Given the description of an element on the screen output the (x, y) to click on. 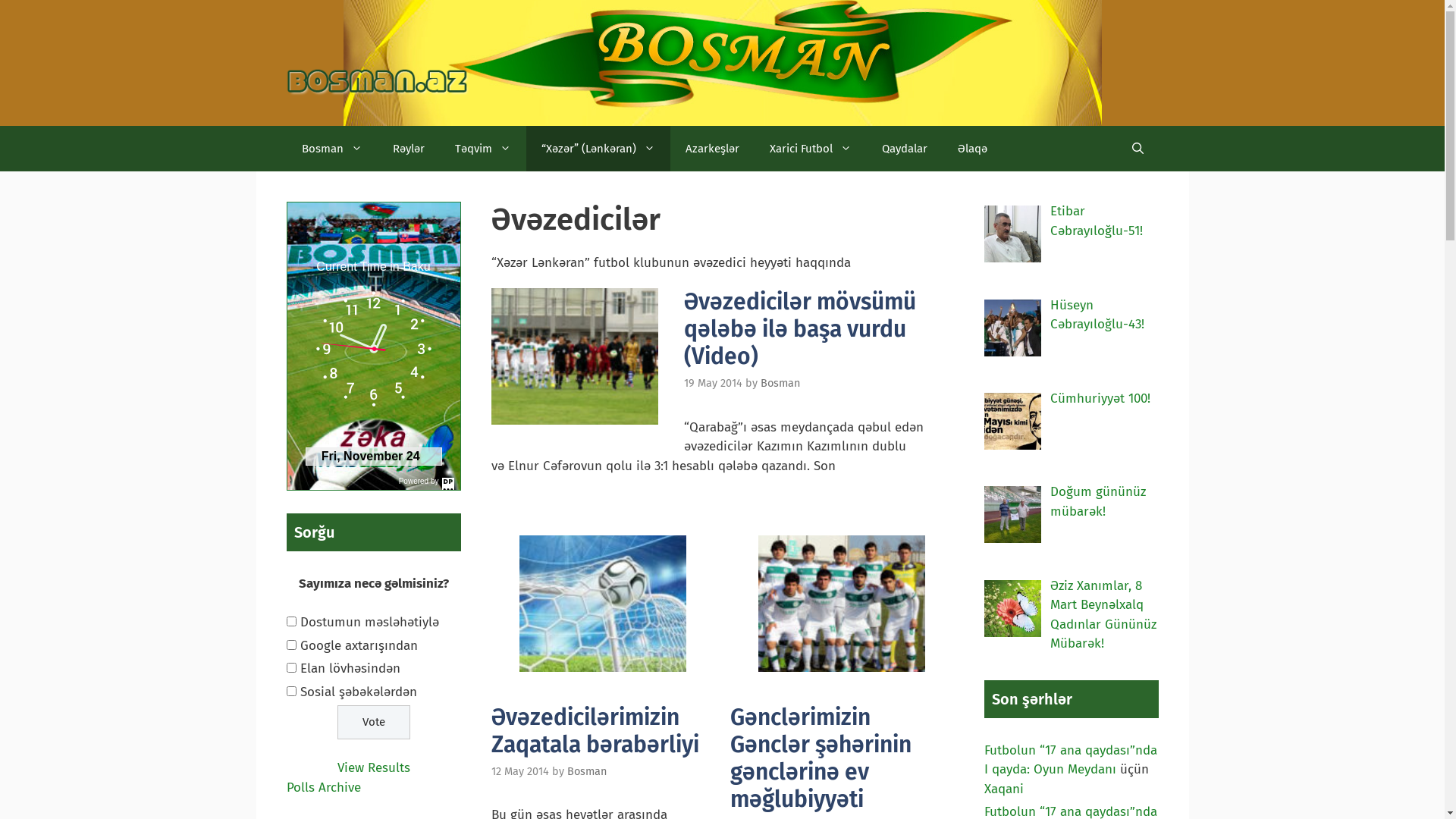
Polls Archive Element type: text (323, 787)
Xarici Futbol Element type: text (809, 148)
Xaqani Element type: text (1003, 789)
   Vote    Element type: text (372, 722)
View Results Element type: text (372, 767)
Powered by DaysPedia.com Element type: text (372, 345)
Bosman Element type: text (331, 148)
Bosman Element type: text (779, 382)
Bosman Element type: text (586, 771)
Qaydalar Element type: text (903, 148)
Bosman.az Element type: hover (377, 81)
Bosman.az Element type: hover (377, 81)
